Given the description of an element on the screen output the (x, y) to click on. 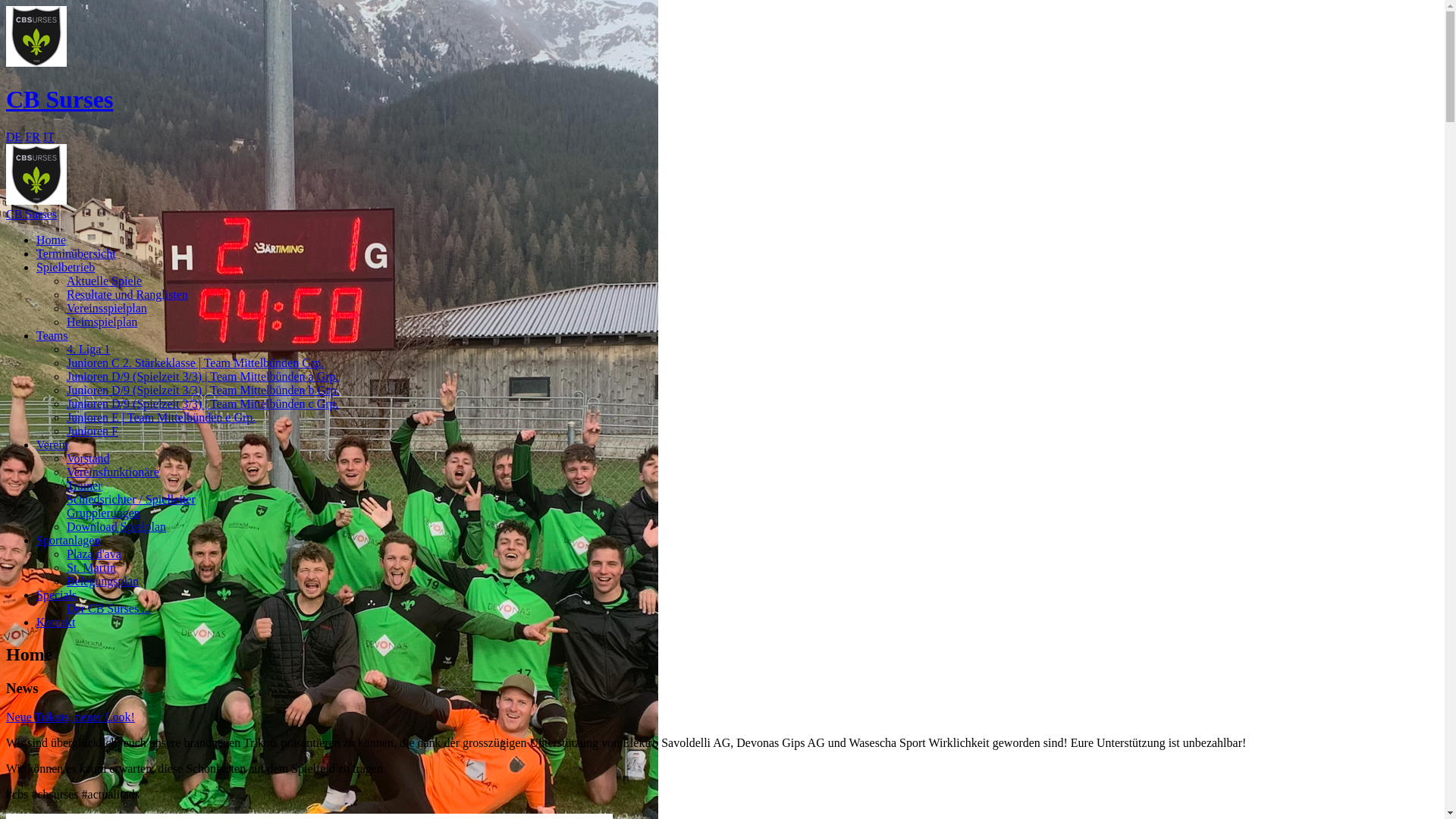
CB Surses] Element type: hover (36, 174)
Teams Element type: text (52, 335)
DE Element type: text (13, 136)
Spielbetrieb Element type: text (65, 266)
Der CB Surses ... Element type: text (108, 608)
Verein Element type: text (52, 444)
Neue Trikots, neuer Look! Element type: text (70, 716)
4. Liga 1 Element type: text (87, 348)
Specials Element type: text (56, 594)
Sportanlagen Element type: text (68, 539)
Schiedsrichter / Spielleiter Element type: text (130, 498)
Plaza d'ava Element type: text (93, 553)
Junioren F Element type: text (92, 430)
Aktuelle Spiele Element type: text (103, 280)
FR Element type: text (32, 136)
Gruppierungen Element type: text (103, 512)
Heimspielplan Element type: text (101, 321)
Belegungsplan Element type: text (102, 580)
CB Surses Element type: hover (36, 36)
Home Element type: text (50, 239)
Resultate und Ranglisten Element type: text (127, 294)
Download Spielplan Element type: text (116, 526)
St. Martin Element type: text (91, 567)
Vereinsspielplan Element type: text (106, 307)
Kontakt Element type: text (55, 621)
Vorstand Element type: text (87, 457)
CB Surses Element type: text (722, 221)
CB Surses Element type: text (59, 98)
Trainer Element type: text (84, 485)
IT Element type: text (48, 136)
